Given the description of an element on the screen output the (x, y) to click on. 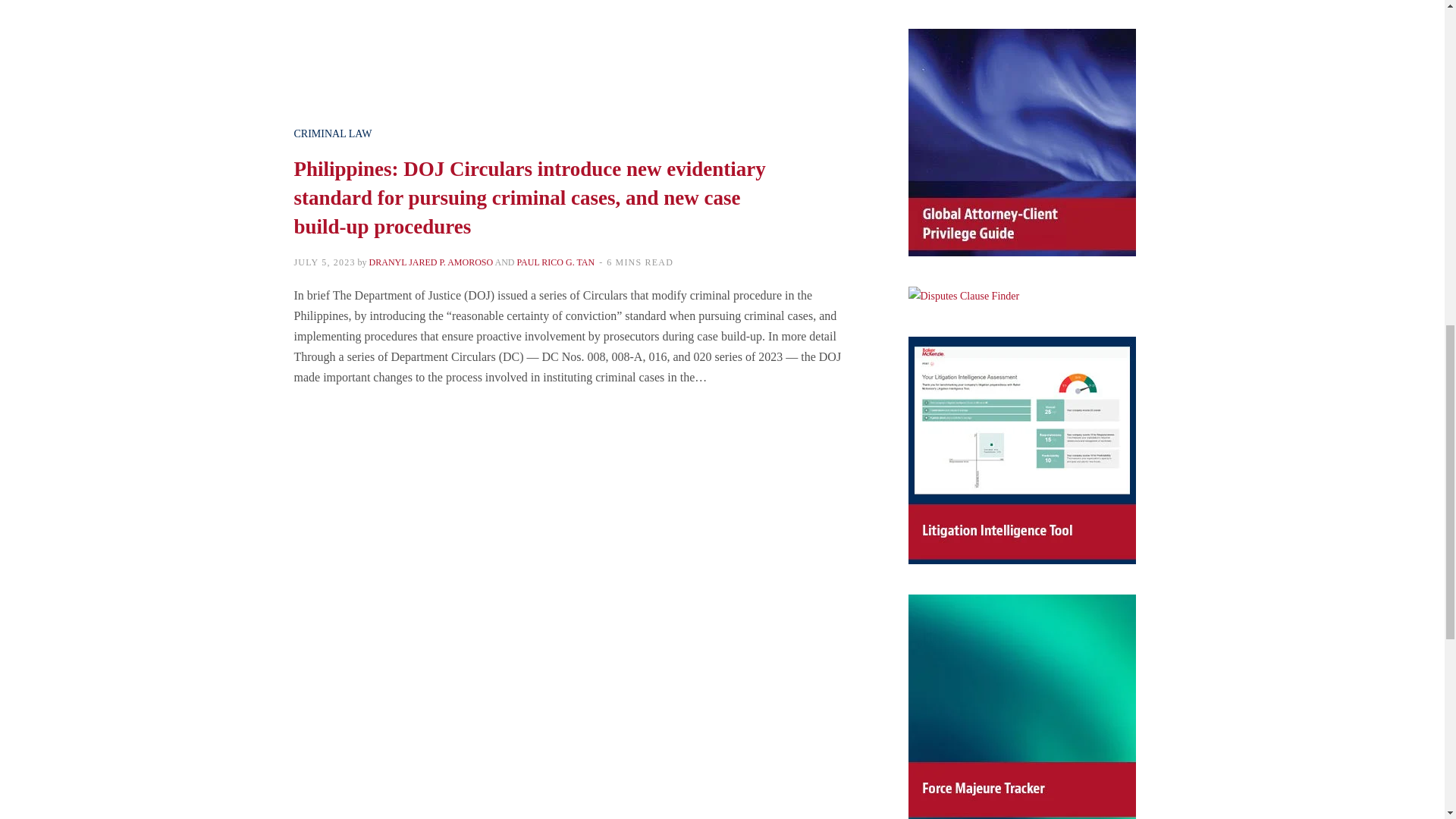
Posts by Paul Rico G. Tan (555, 262)
Posts by Dranyl Jared P. Amoroso (431, 262)
